Given the description of an element on the screen output the (x, y) to click on. 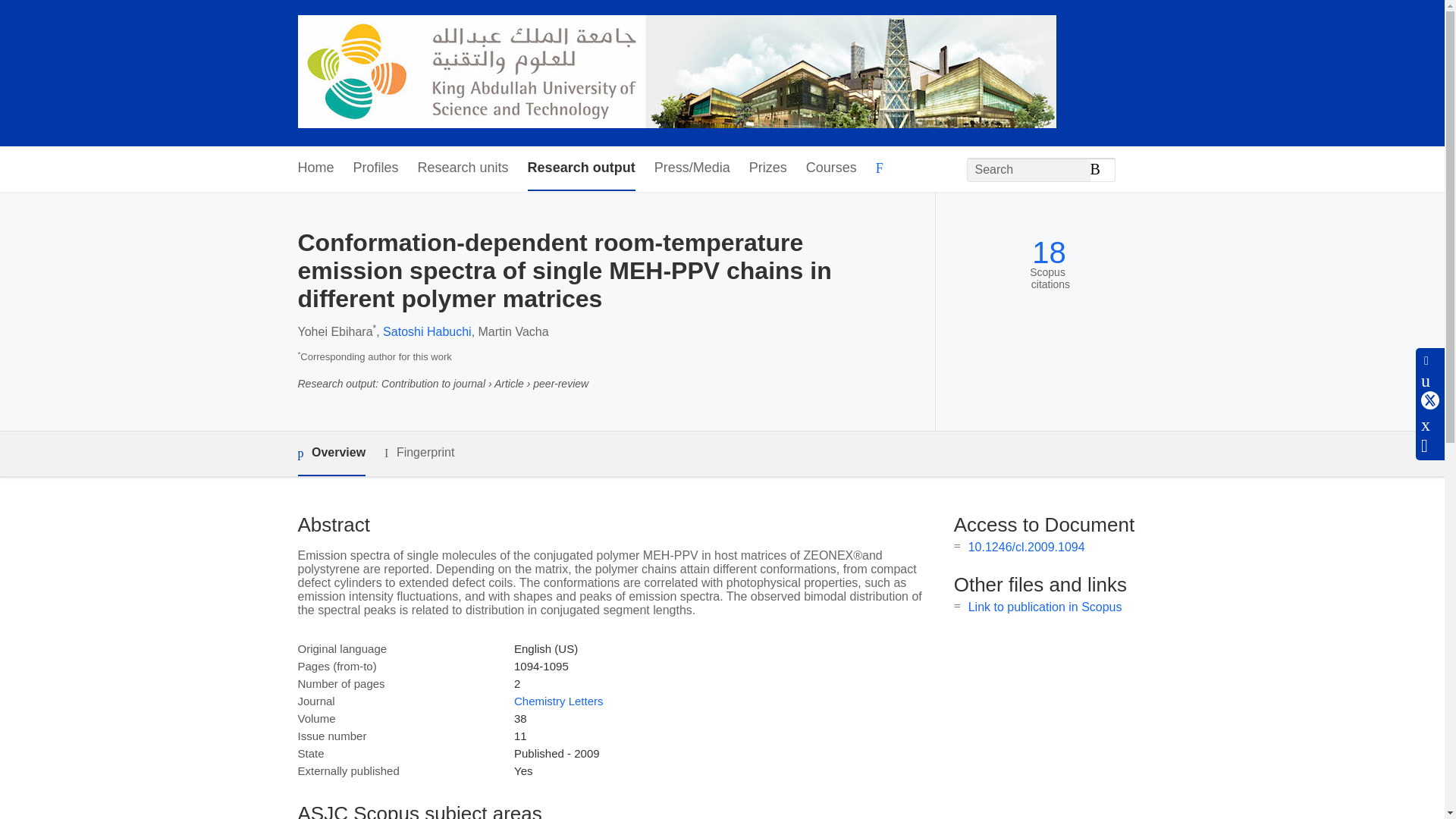
Research output (580, 168)
Satoshi Habuchi (426, 331)
Profiles (375, 168)
Overview (331, 453)
Chemistry Letters (558, 700)
Courses (831, 168)
Fingerprint (419, 453)
18 (1048, 252)
Link to publication in Scopus (1045, 606)
